Given the description of an element on the screen output the (x, y) to click on. 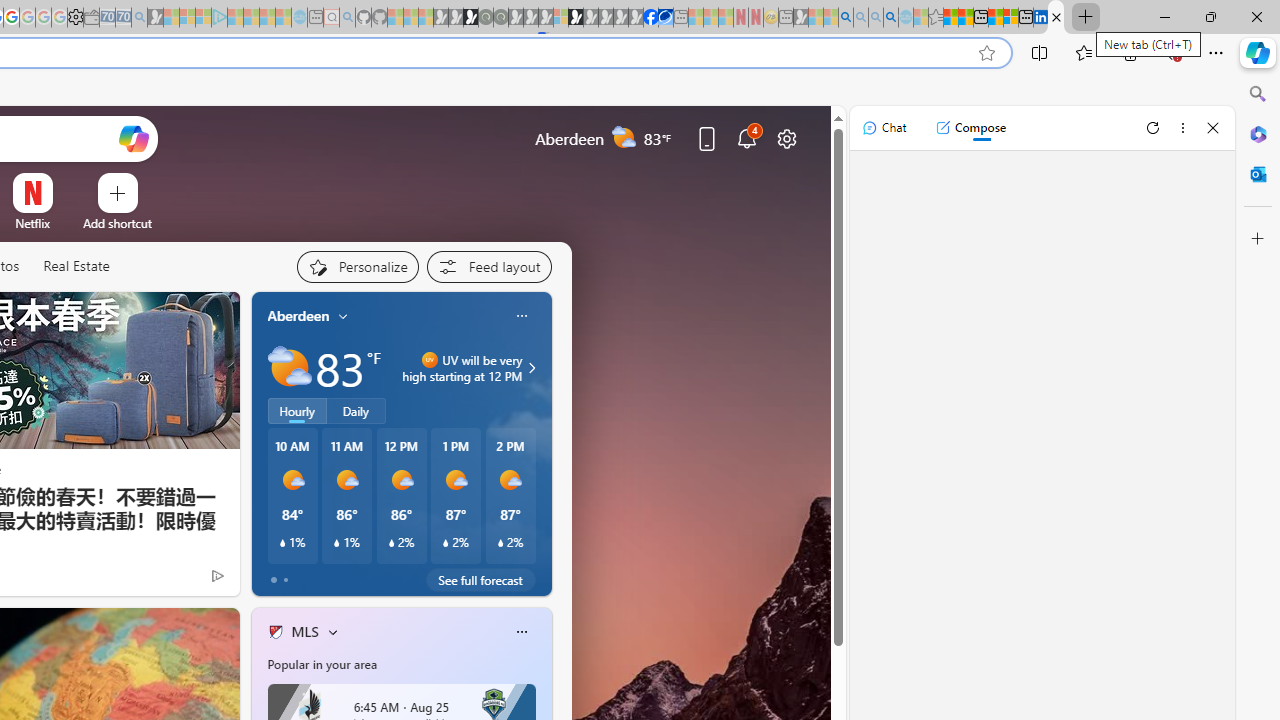
See full forecast (480, 579)
Partly sunny (289, 368)
Hourly (296, 411)
tab-0 (273, 579)
LinkedIn (1041, 17)
